Given the description of an element on the screen output the (x, y) to click on. 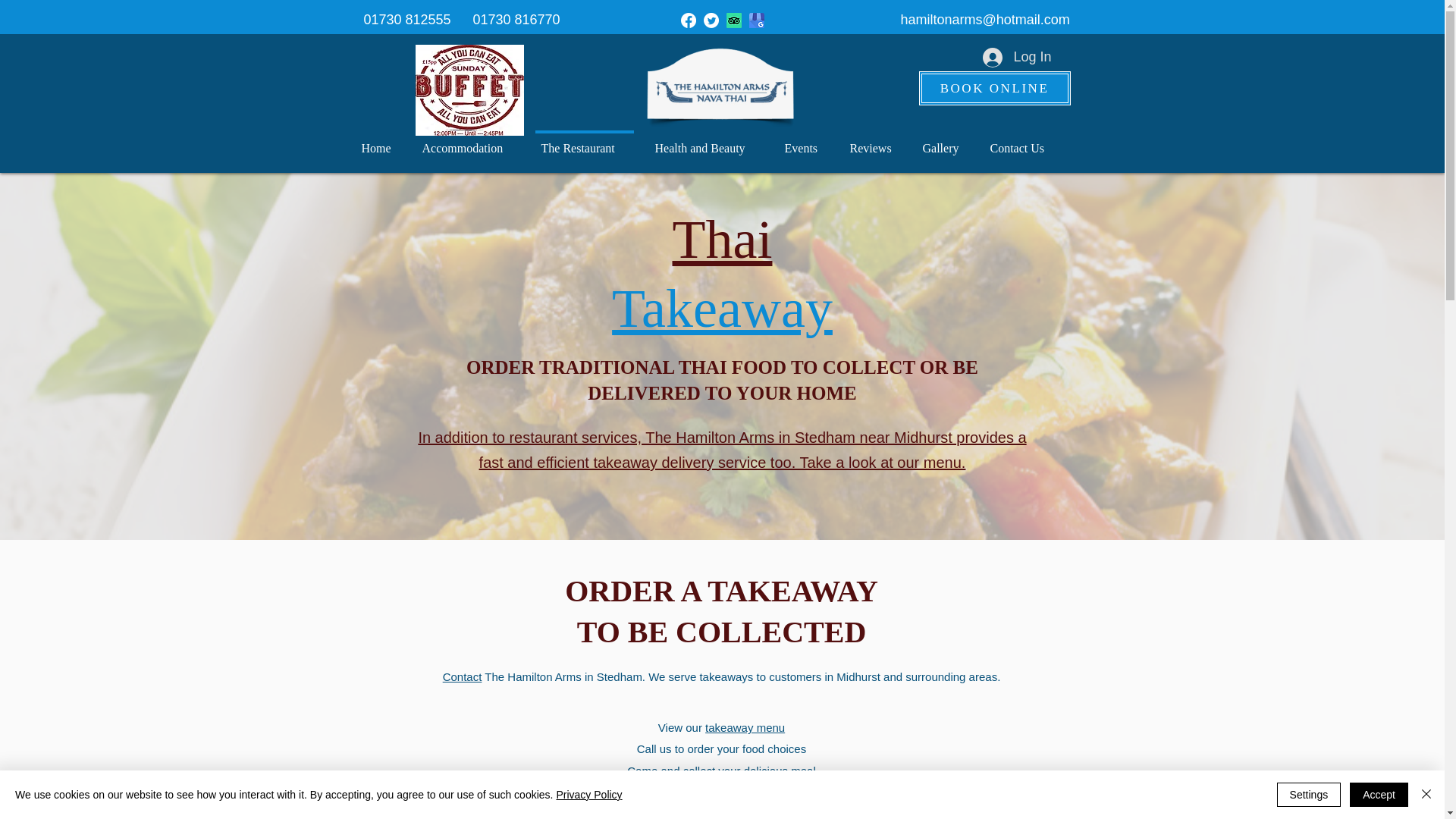
Health and Beauty (706, 141)
Facebook Like (721, 274)
Accept (798, 137)
Log In (1378, 794)
The Restaurant (1016, 57)
Events (584, 141)
BOOK ONLINE (802, 141)
takeaway menu (994, 88)
Contact (744, 727)
Privacy Policy (461, 676)
Home (588, 794)
Contact Us (377, 141)
Reviews (1020, 141)
